Given the description of an element on the screen output the (x, y) to click on. 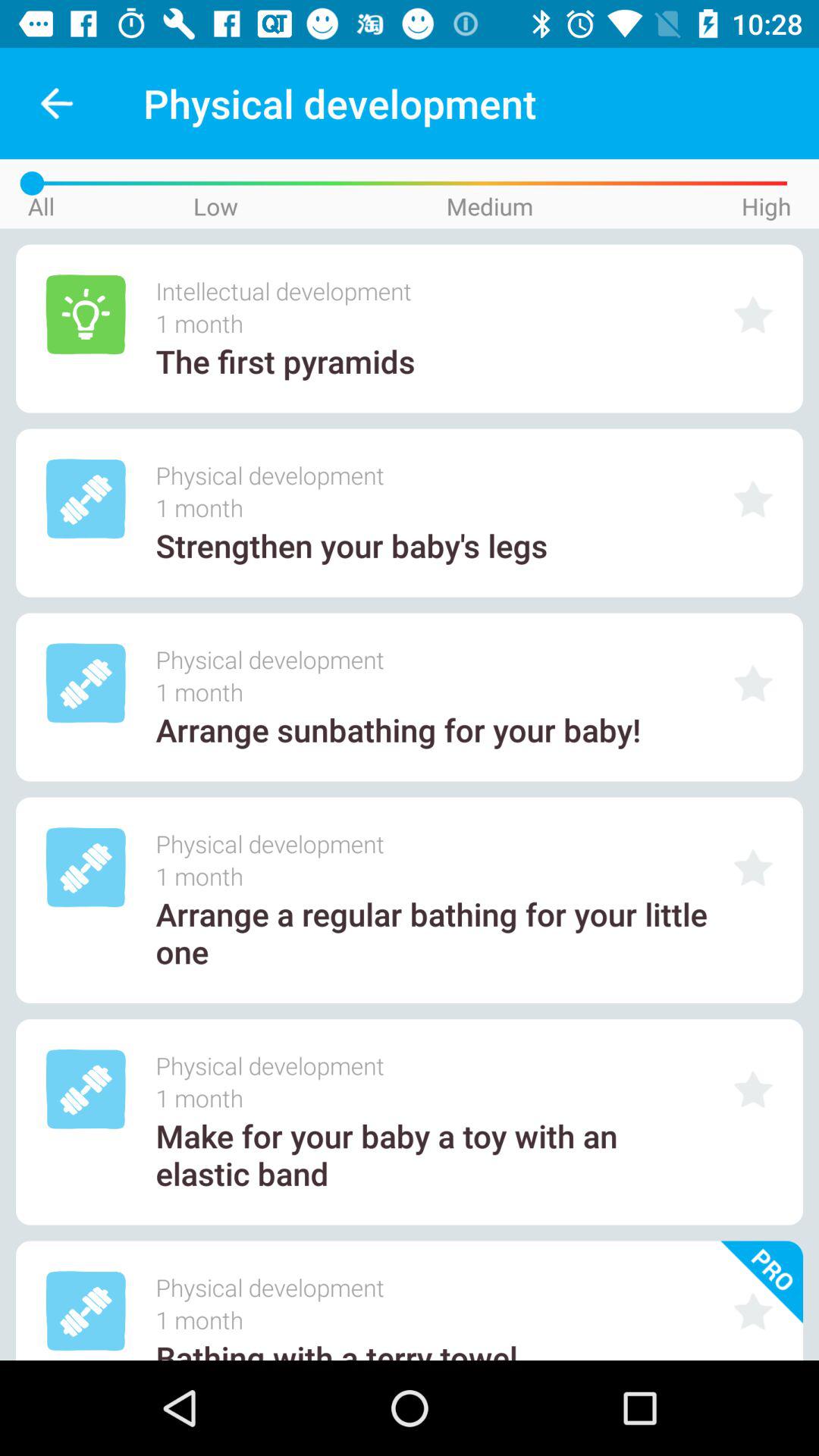
click on icon (753, 1311)
